Given the description of an element on the screen output the (x, y) to click on. 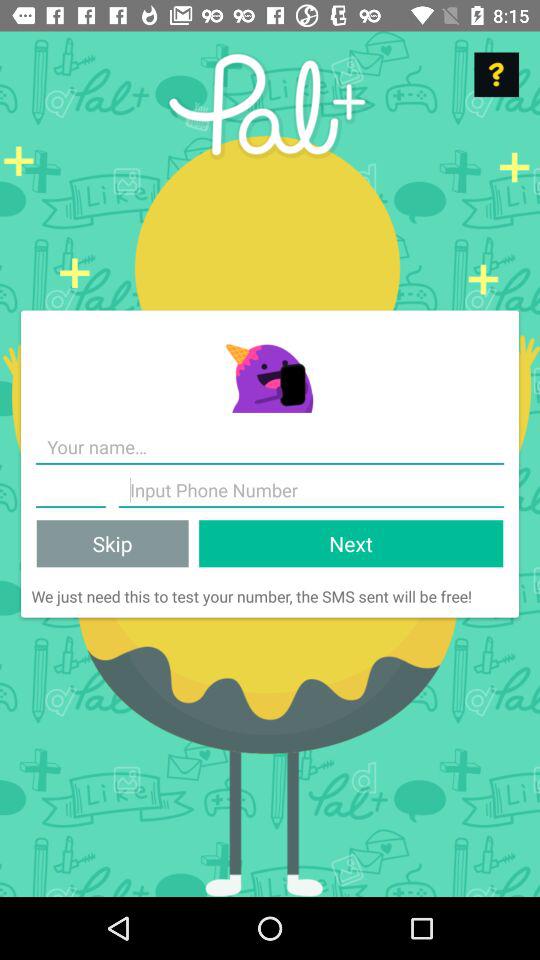
fill in form for name (269, 447)
